Given the description of an element on the screen output the (x, y) to click on. 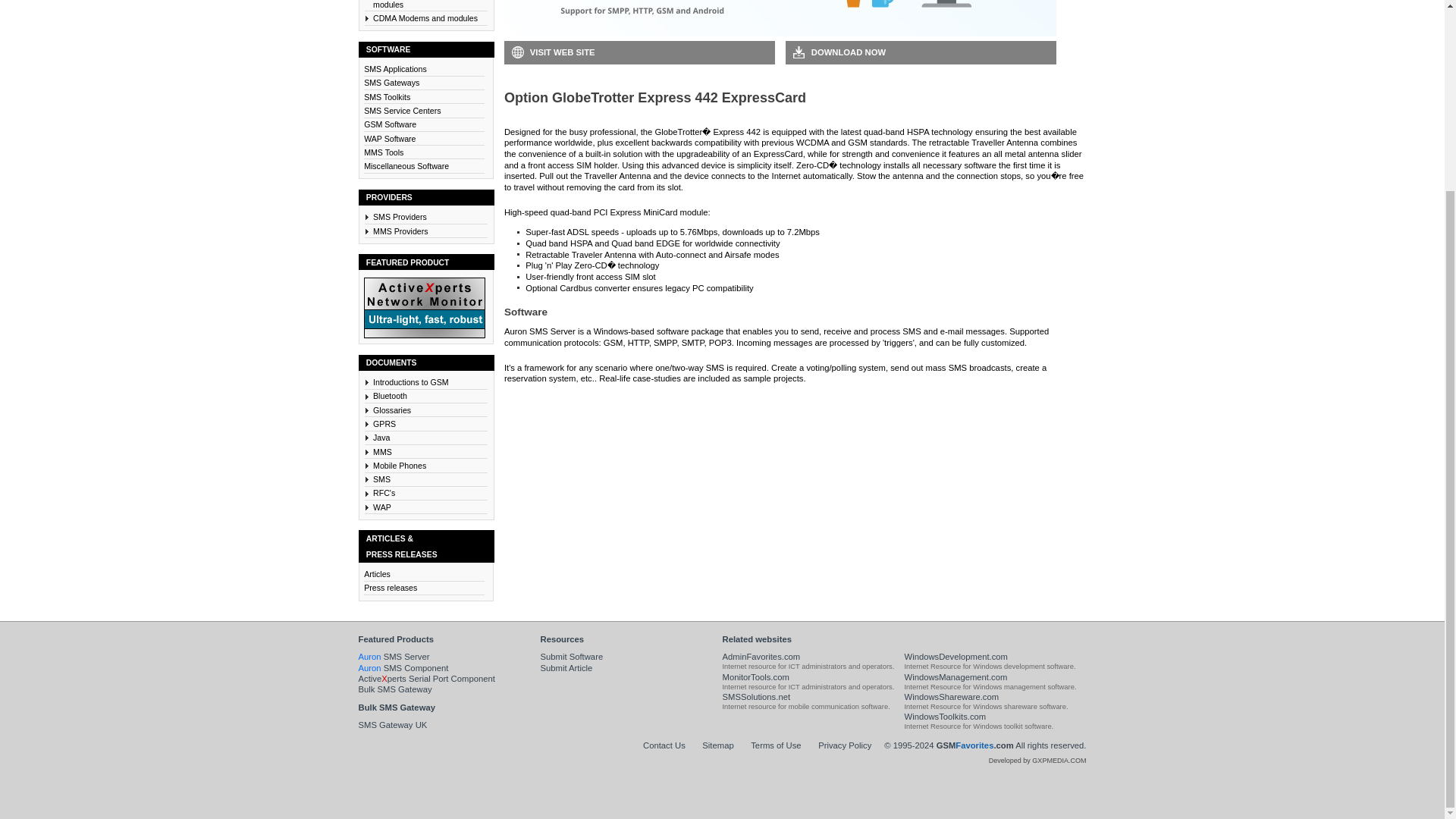
Top (974, 745)
